Given the description of an element on the screen output the (x, y) to click on. 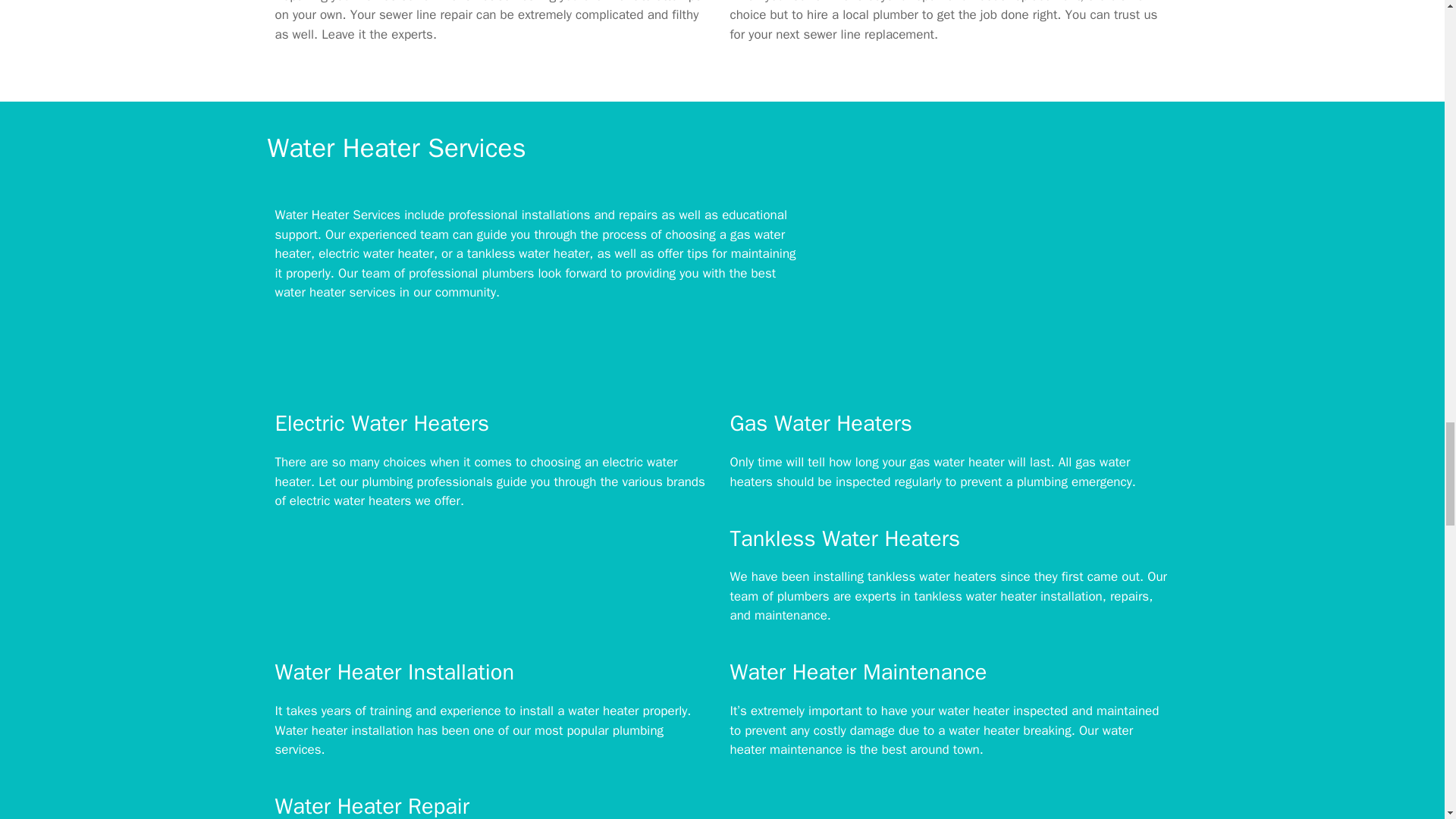
Avantel Plumbing Drain Cleaning and Water Heater Services (994, 281)
